Given the description of an element on the screen output the (x, y) to click on. 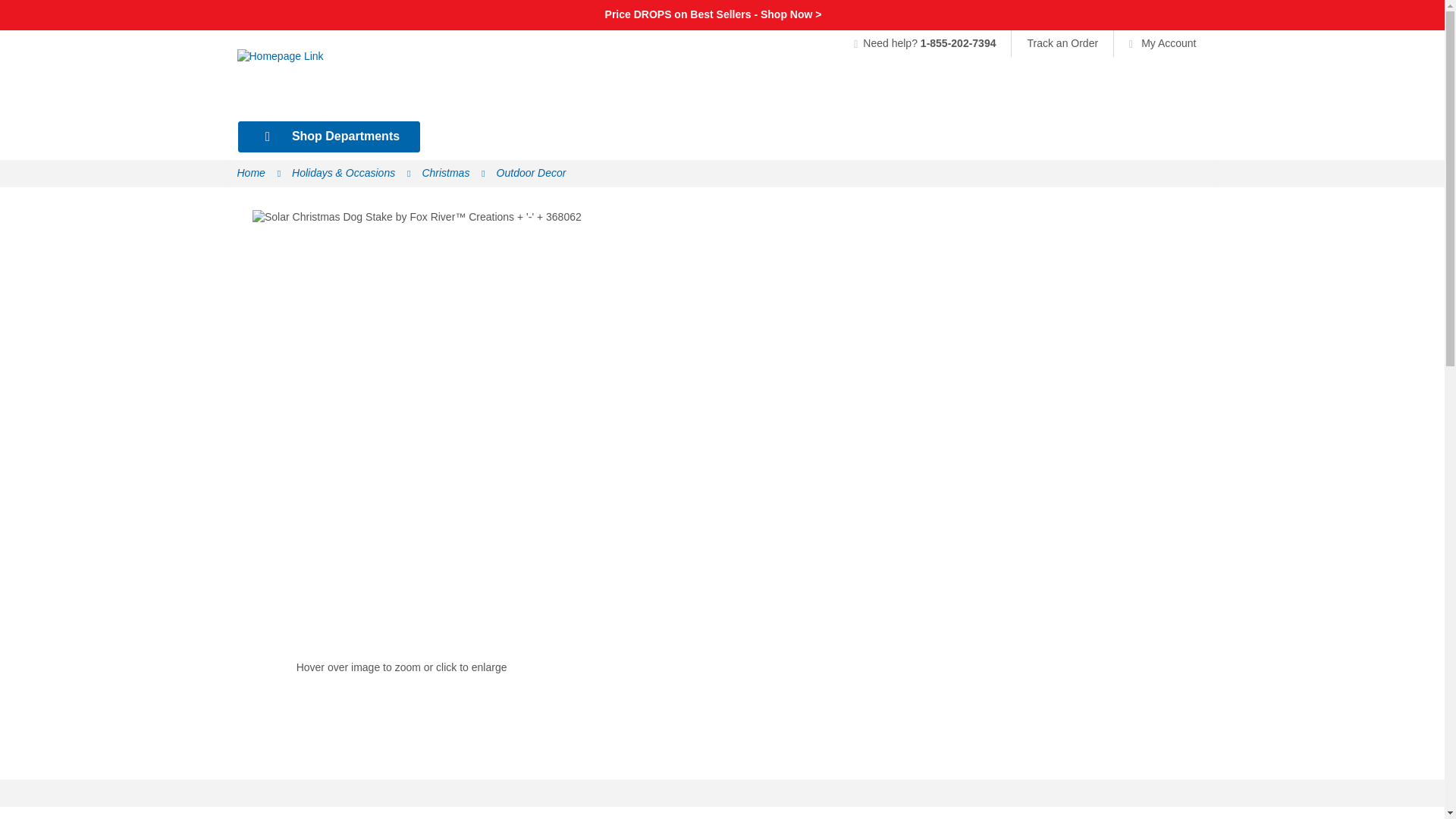
Need help? 1-855-202-7394 (931, 43)
Homepage Link (358, 81)
Track an Order (1062, 43)
savings (713, 14)
Shop Departments  (329, 137)
My Account (1154, 43)
